Given the description of an element on the screen output the (x, y) to click on. 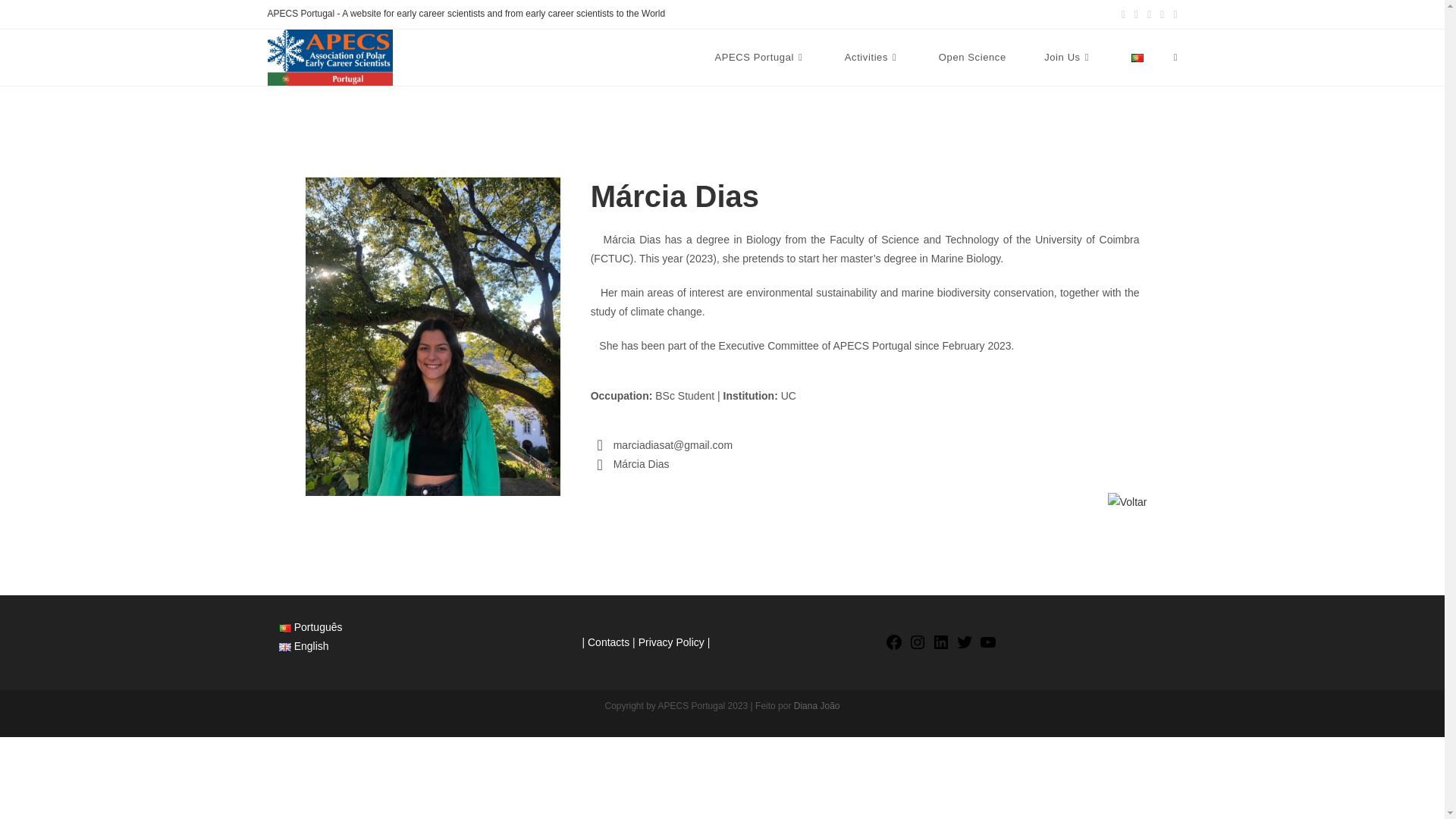
Voltar (1127, 502)
APECS Portugal (760, 57)
Open Science (972, 57)
Join Us (1068, 57)
Activities (872, 57)
